Given the description of an element on the screen output the (x, y) to click on. 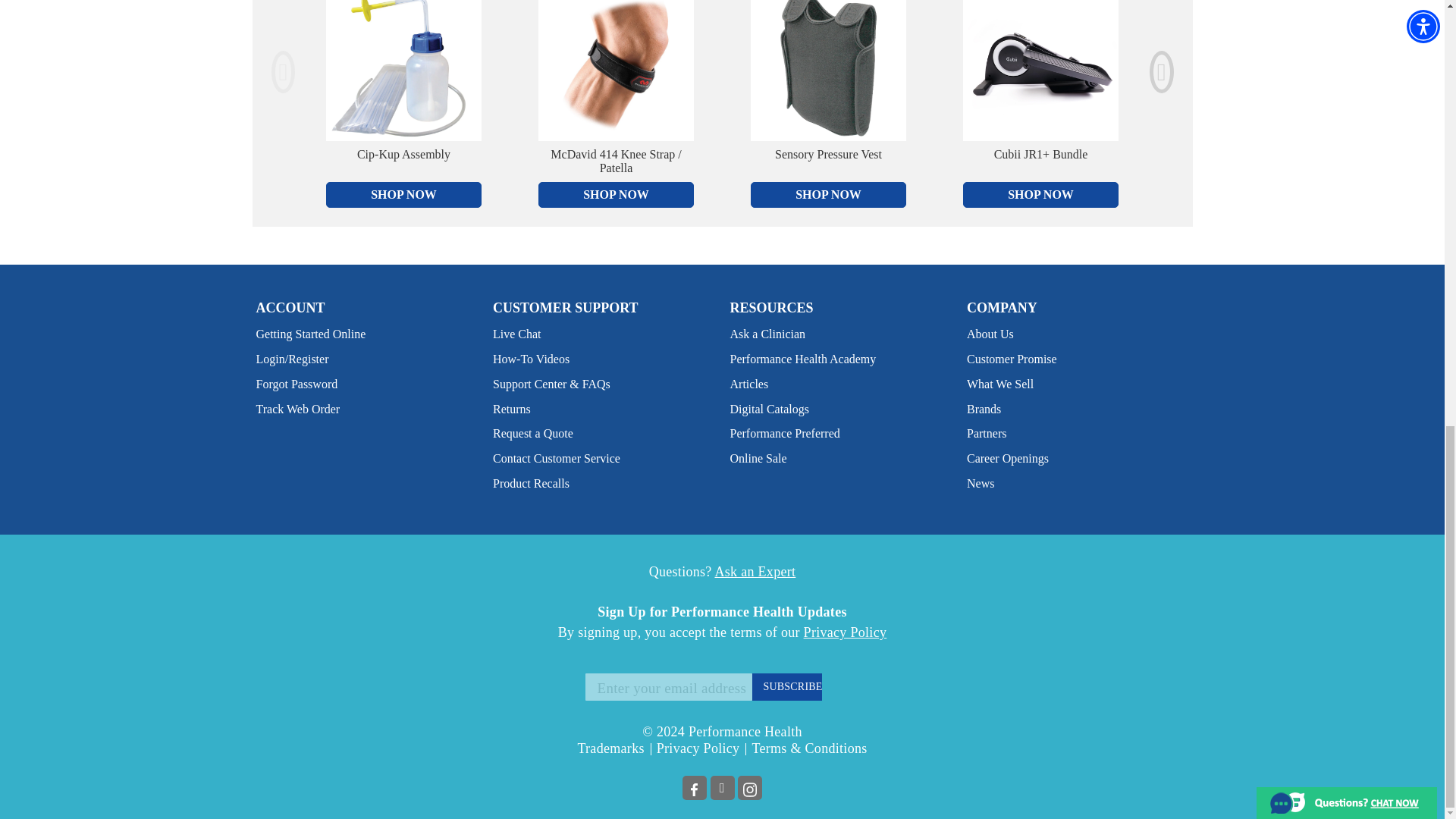
Subscribe (787, 687)
